Given the description of an element on the screen output the (x, y) to click on. 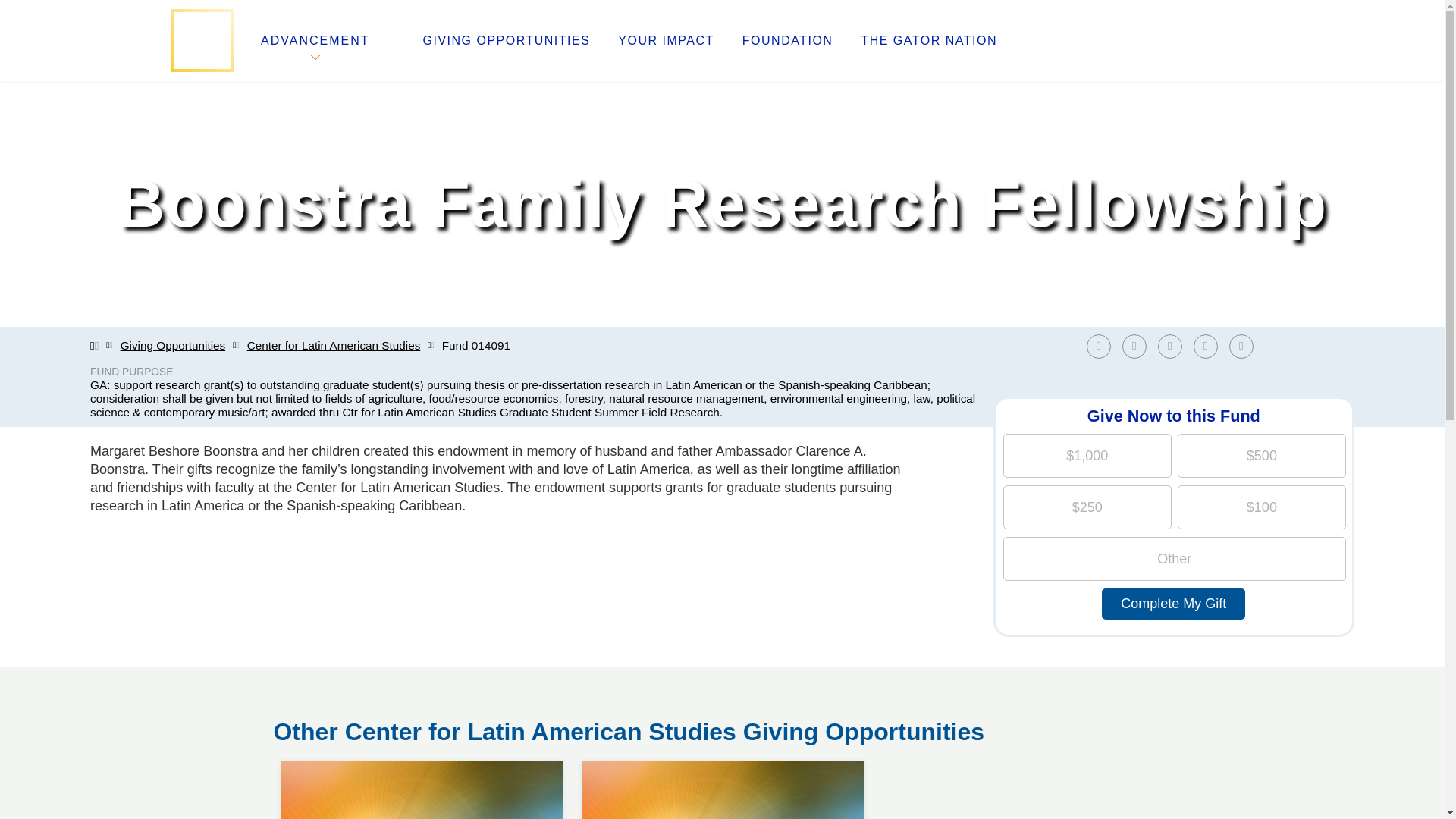
Share on Twitter (1138, 345)
Share on Reddit (1205, 346)
Center for Latin American Studies (333, 345)
Giving Opportunities (172, 345)
Share on Twitter (1134, 346)
GIVING OPPORTUNITIES (507, 40)
Share on Facebook (1098, 346)
Share by Email (1240, 346)
Share on LinkedIn (1173, 345)
THE GATOR NATION (928, 40)
Share on Facebook (1102, 345)
Share on LinkedIn (1169, 346)
Share on Reddit (1209, 345)
YOUR IMPACT (665, 40)
